Given the description of an element on the screen output the (x, y) to click on. 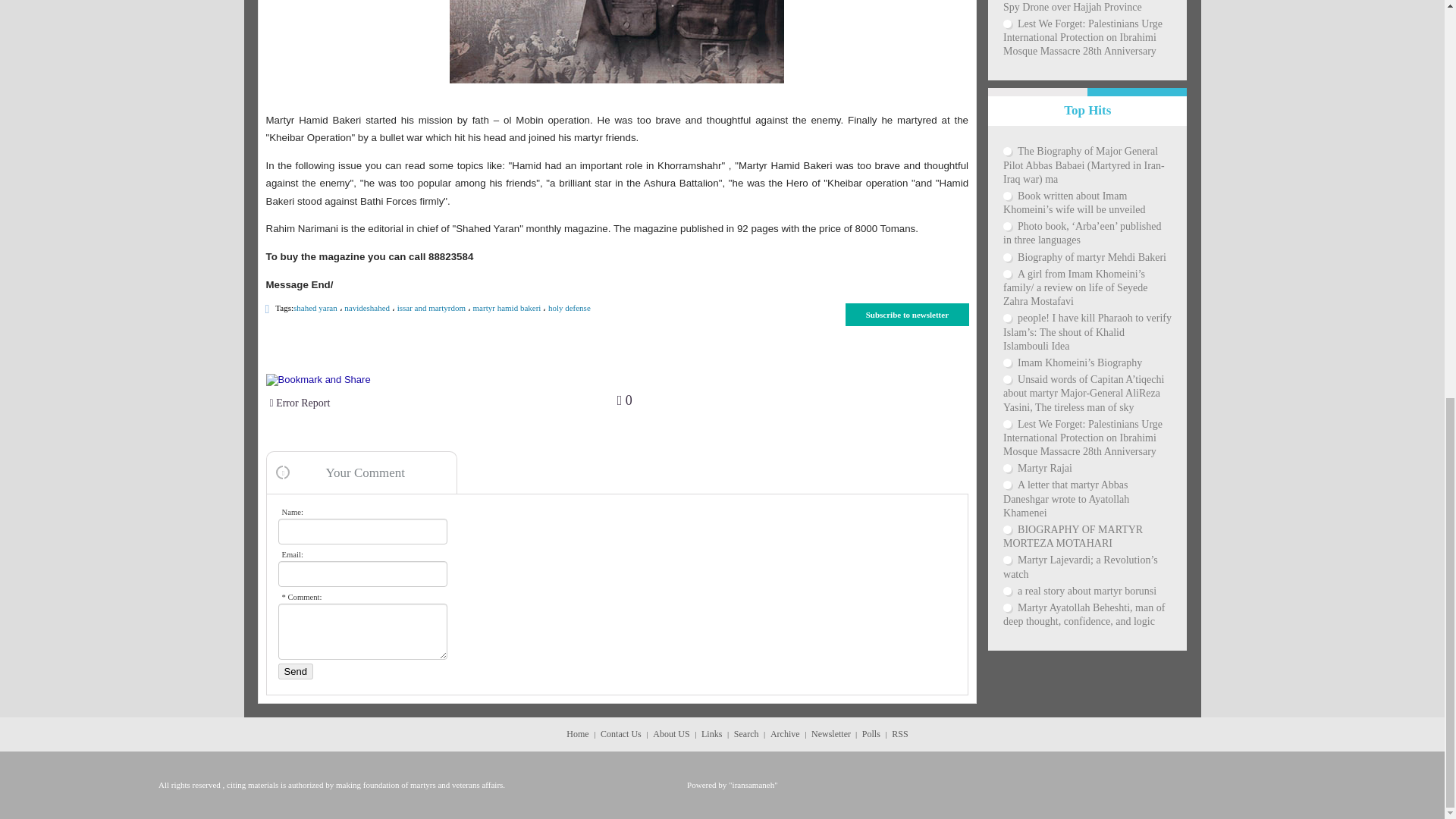
Martyr Hamid Bakeri's commemoration (616, 41)
Error (443, 403)
LIKE (624, 400)
Send (295, 671)
Biography of  martyr Mehdi Bakeri (1087, 257)
